Given the description of an element on the screen output the (x, y) to click on. 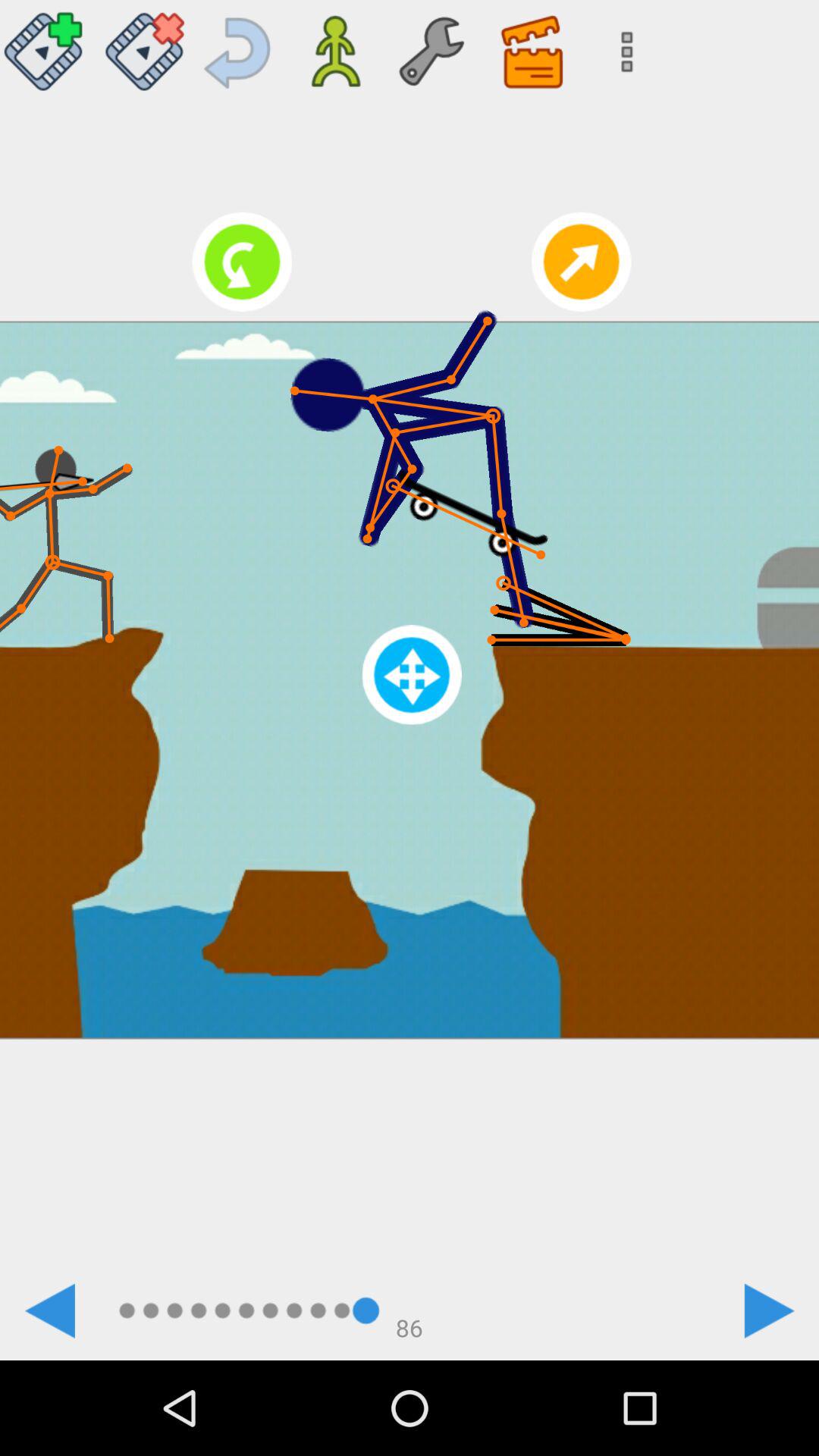
delete movie (144, 45)
